Given the description of an element on the screen output the (x, y) to click on. 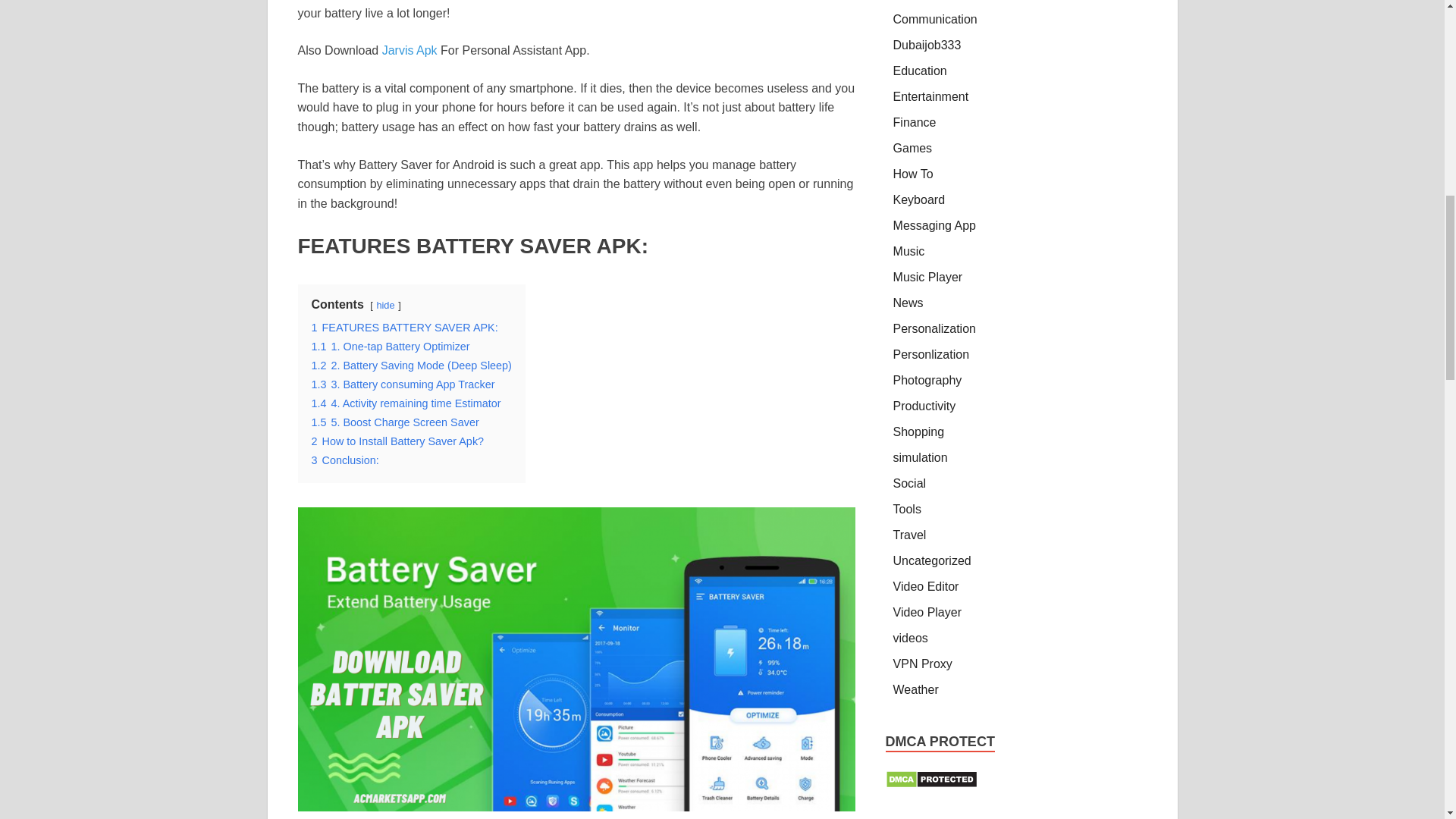
1.1 1. One-tap Battery Optimizer (389, 346)
3 Conclusion: (344, 460)
1.5 5. Boost Charge Screen Saver (395, 422)
hide (384, 305)
1 FEATURES BATTERY SAVER APK: (404, 327)
DMCA.com Protection Status (930, 784)
Jarvis Apk (411, 50)
1.4 4. Activity remaining time Estimator (405, 403)
1.3 3. Battery consuming App Tracker (403, 384)
2 How to Install Battery Saver Apk? (397, 440)
